Given the description of an element on the screen output the (x, y) to click on. 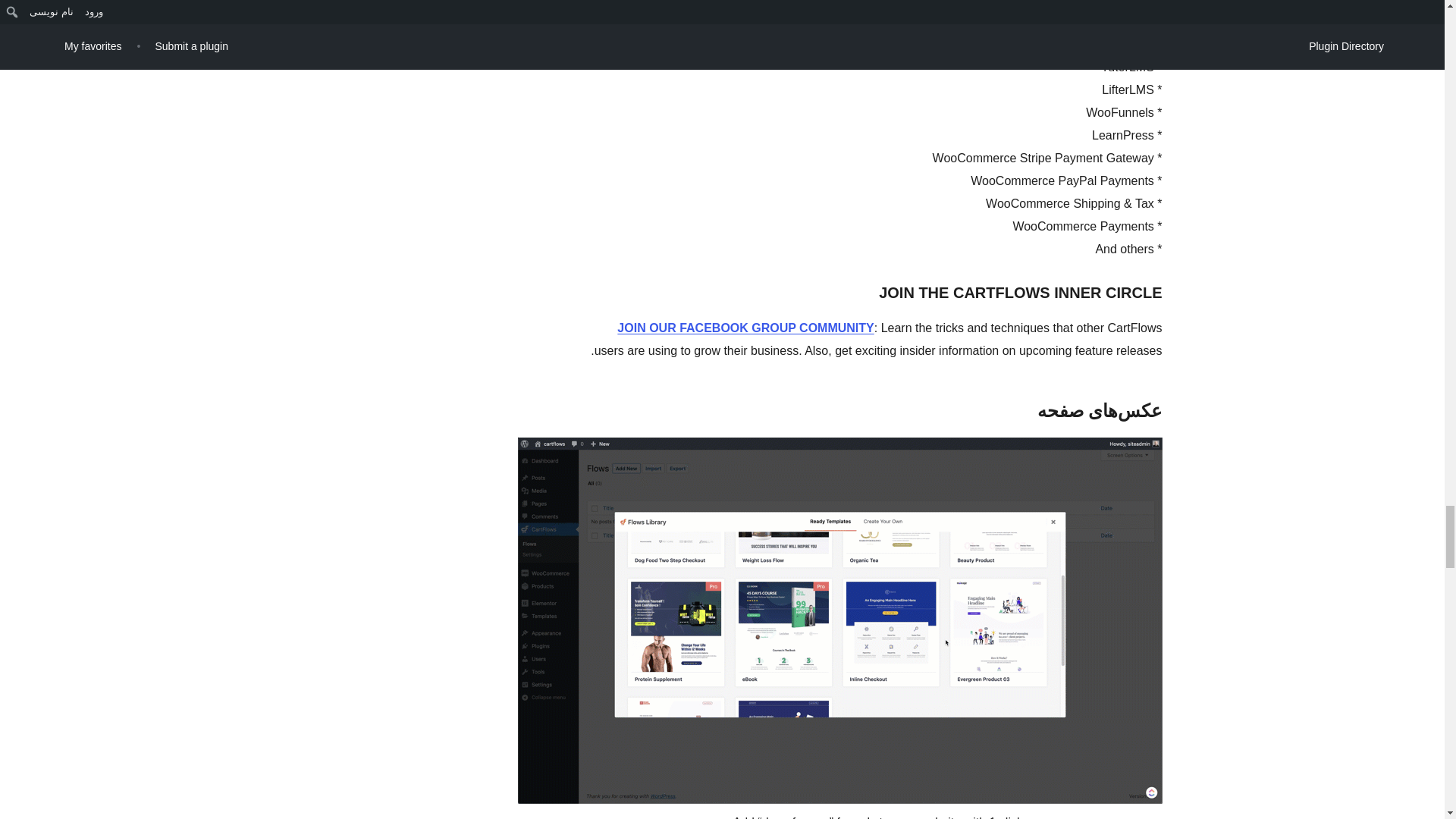
JOIN OUR FACEBOOK GROUP COMMUNITY (745, 327)
